Given the description of an element on the screen output the (x, y) to click on. 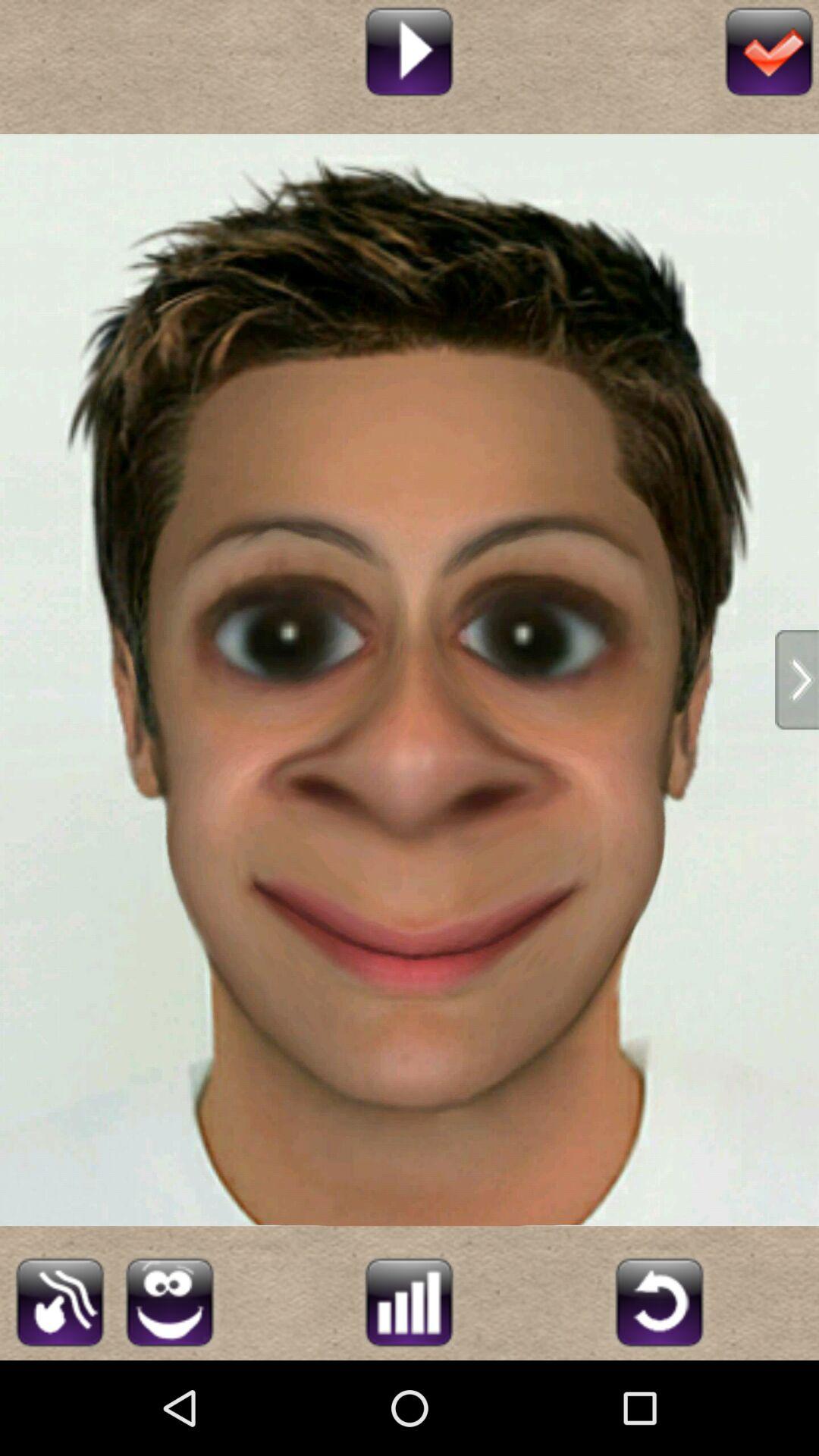
go back (659, 1300)
